Given the description of an element on the screen output the (x, y) to click on. 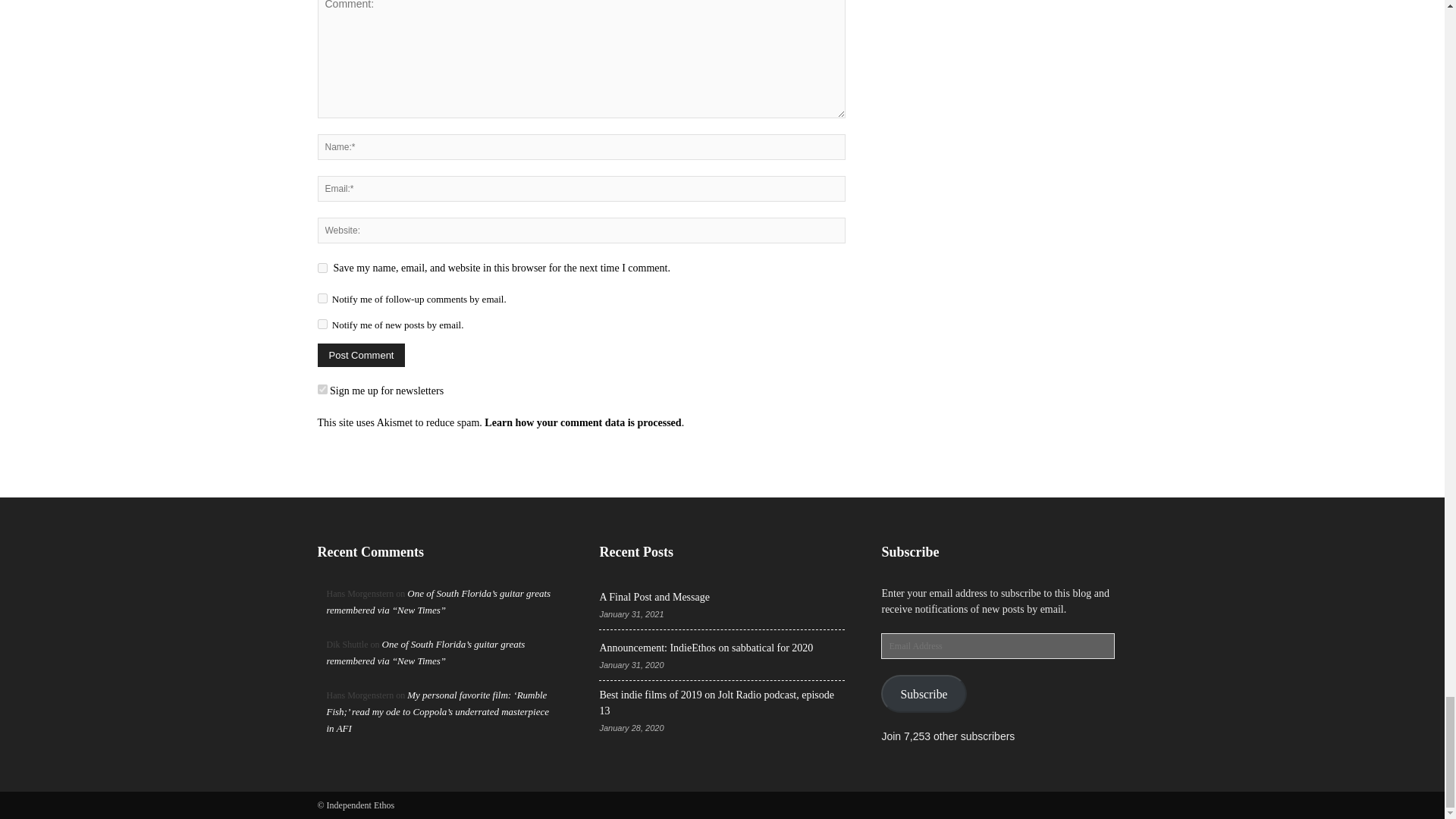
Post Comment (360, 354)
subscribe (321, 298)
yes (321, 267)
subscribe (321, 324)
on (321, 388)
